Given the description of an element on the screen output the (x, y) to click on. 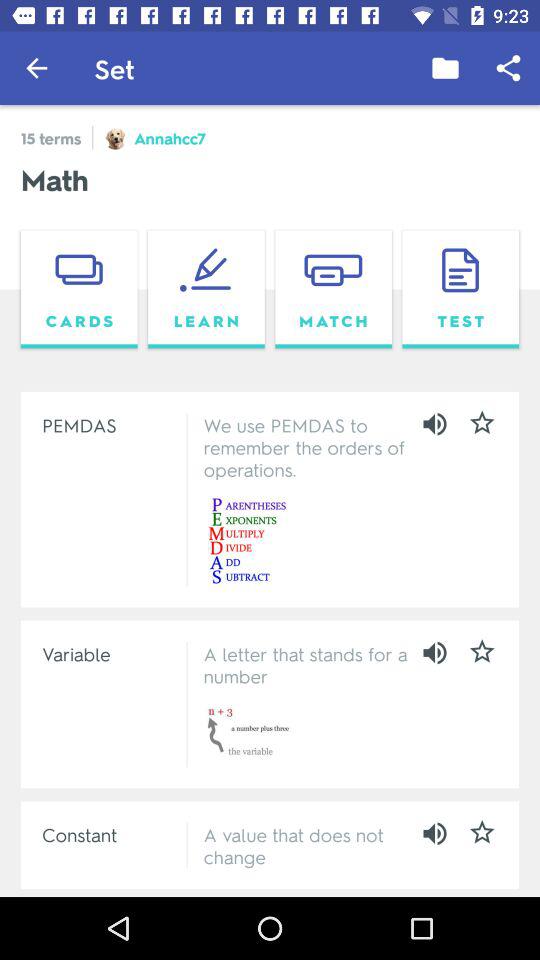
click the item next to the set icon (444, 67)
